Given the description of an element on the screen output the (x, y) to click on. 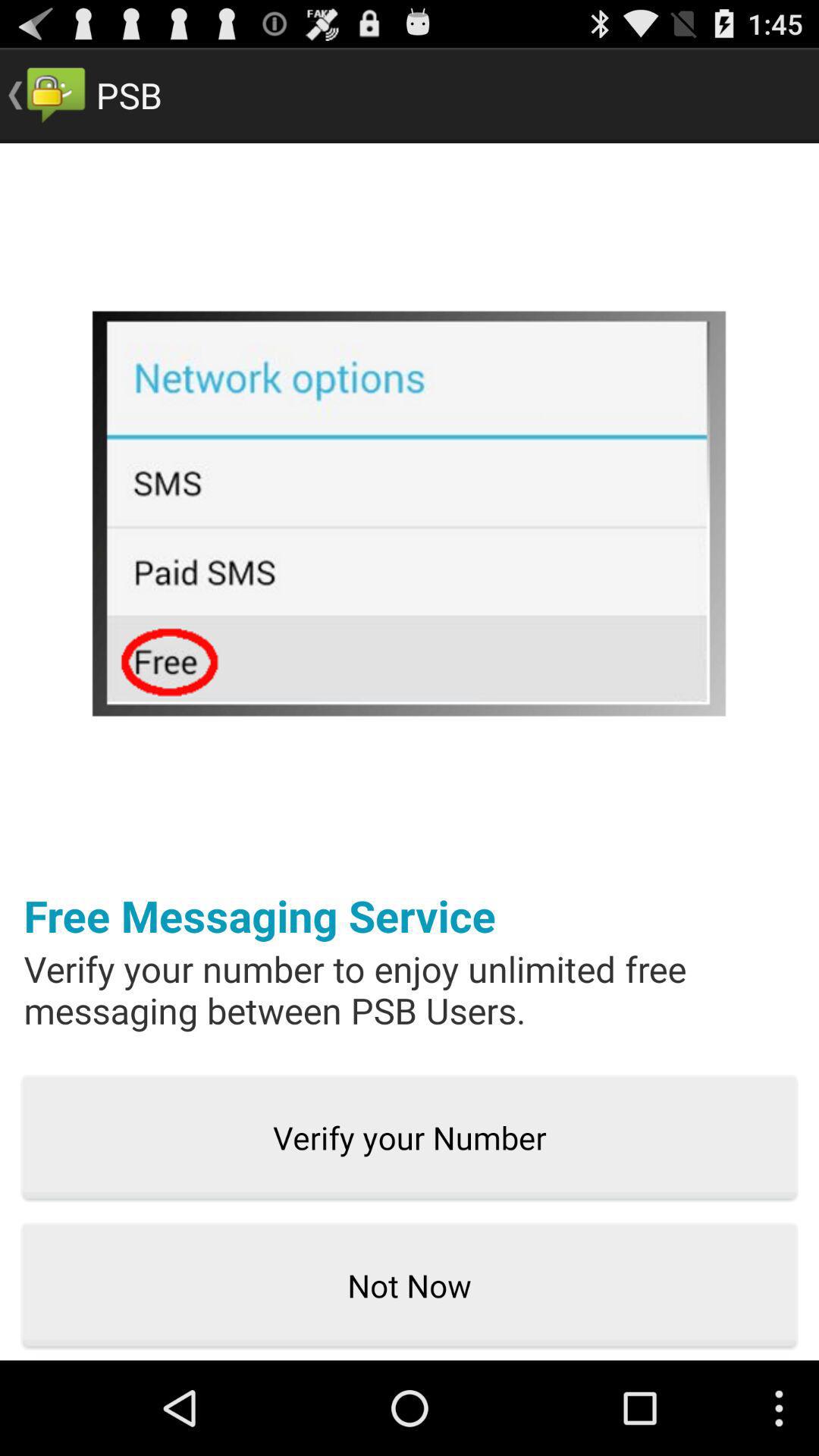
press the not now item (409, 1286)
